Given the description of an element on the screen output the (x, y) to click on. 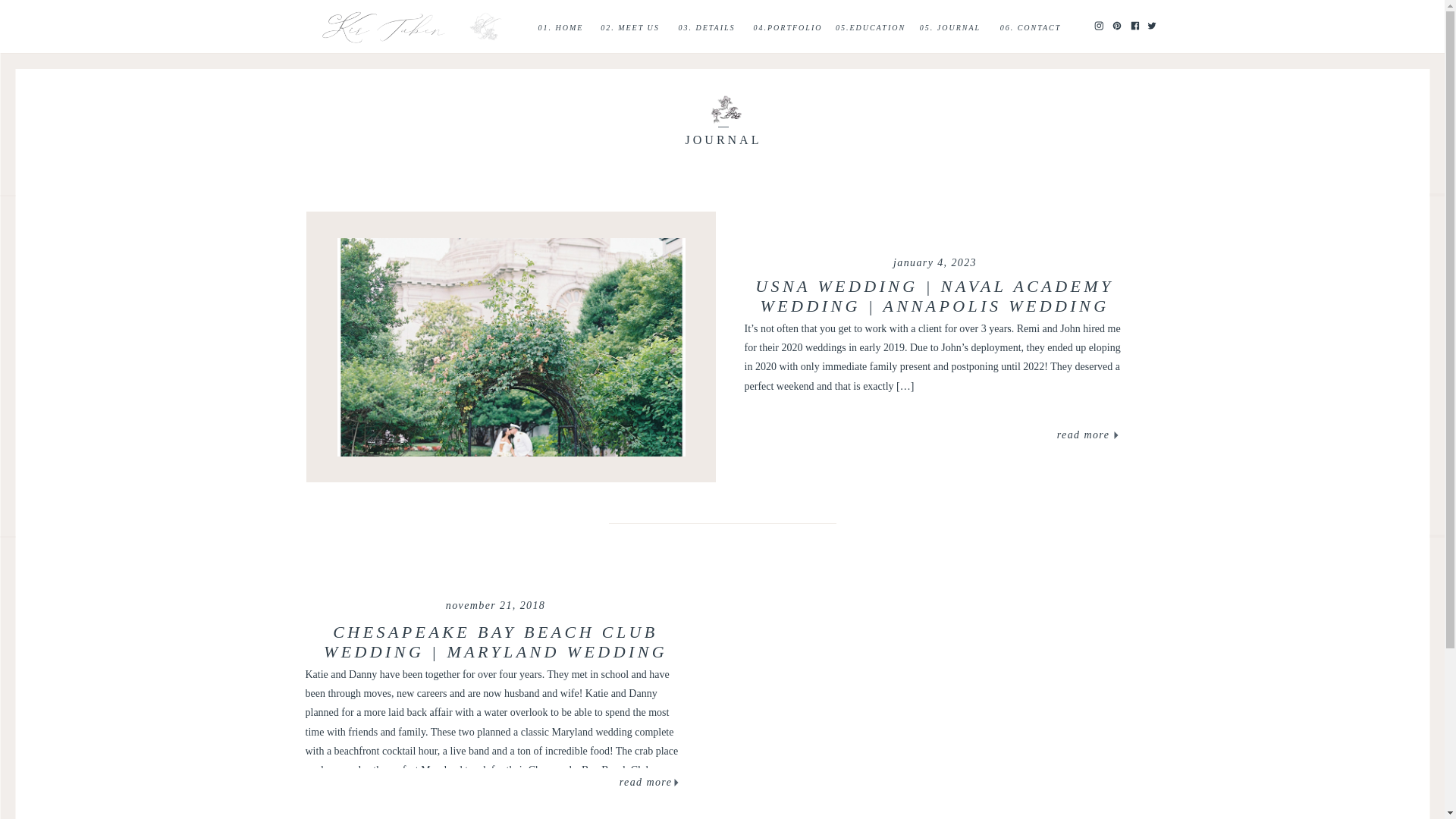
05.EDUCATION (870, 27)
Instagram-color Created with Sketch. (1097, 24)
Facebook Copy-color Created with Sketch. (1133, 24)
04.PORTFOLIO (787, 27)
Facebook Copy-color Created with Sketch. (1133, 25)
02. MEET US (629, 27)
01. HOME (560, 27)
read more (646, 783)
06. CONTACT (1029, 27)
05. JOURNAL (949, 27)
